Given the description of an element on the screen output the (x, y) to click on. 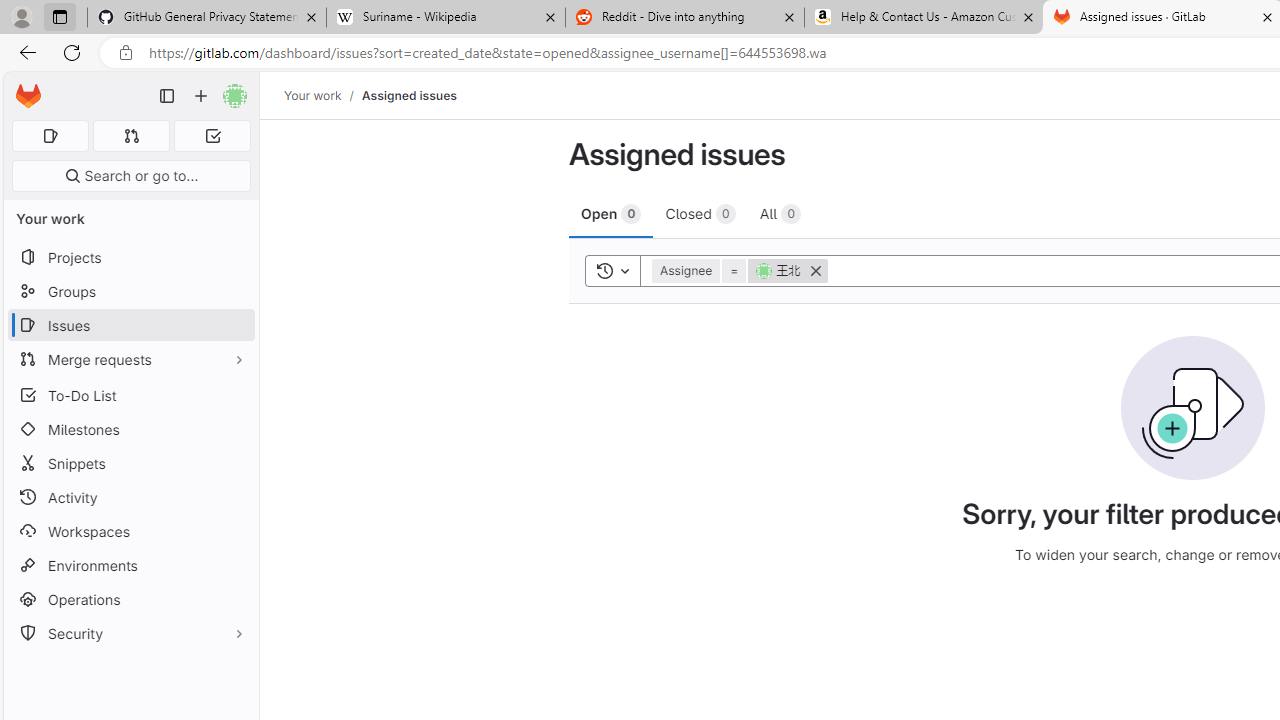
Merge requests 0 (131, 136)
Issues (130, 325)
Snippets (130, 463)
Snippets (130, 463)
Help & Contact Us - Amazon Customer Service (924, 17)
Suriname - Wikipedia (445, 17)
avatar (764, 270)
To-Do list 0 (212, 136)
GitHub General Privacy Statement - GitHub Docs (207, 17)
Assigned issues (408, 95)
Closed 0 (699, 213)
Milestones (130, 429)
